Given the description of an element on the screen output the (x, y) to click on. 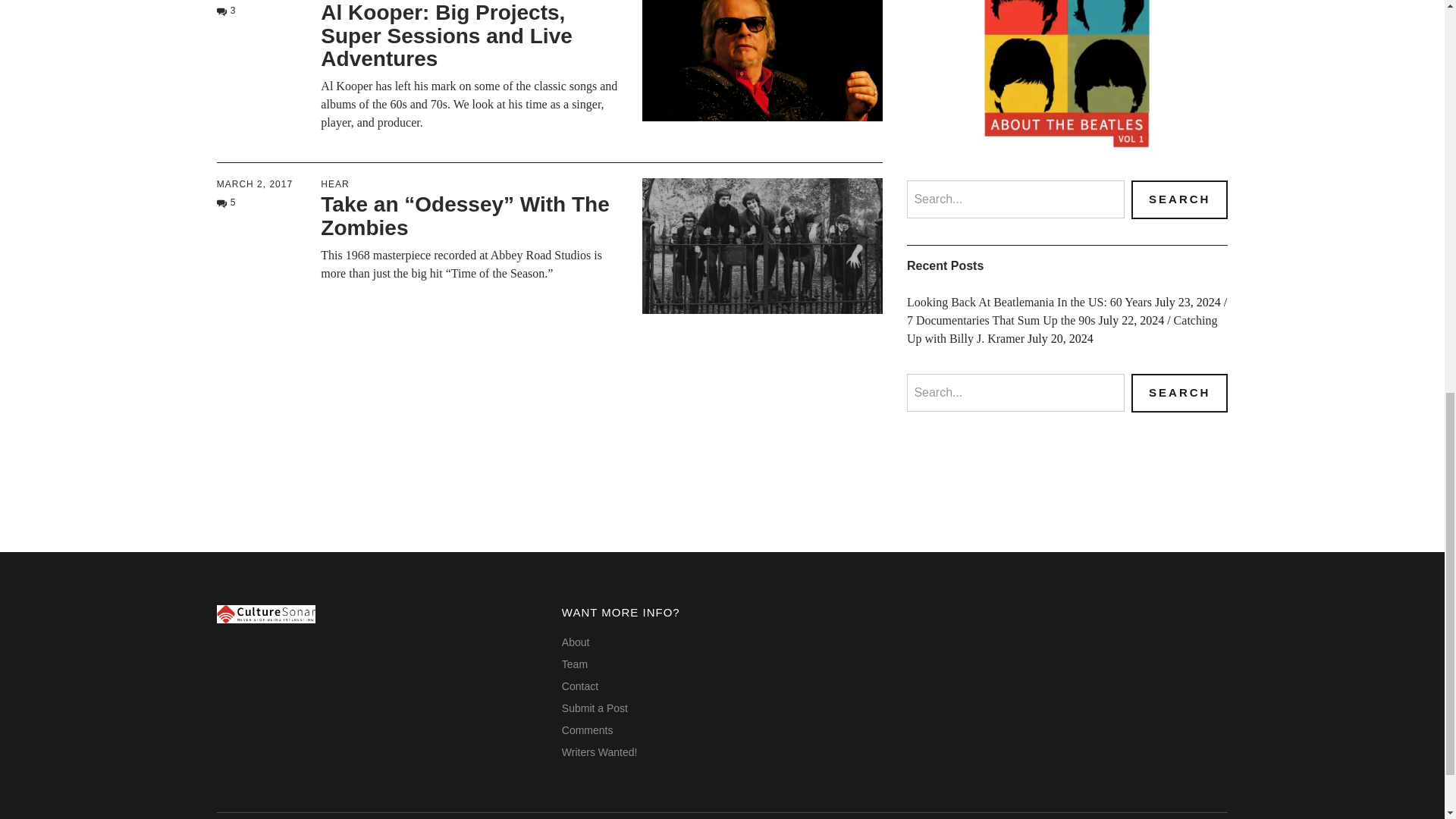
Search (1179, 199)
Search (1179, 392)
